Given the description of an element on the screen output the (x, y) to click on. 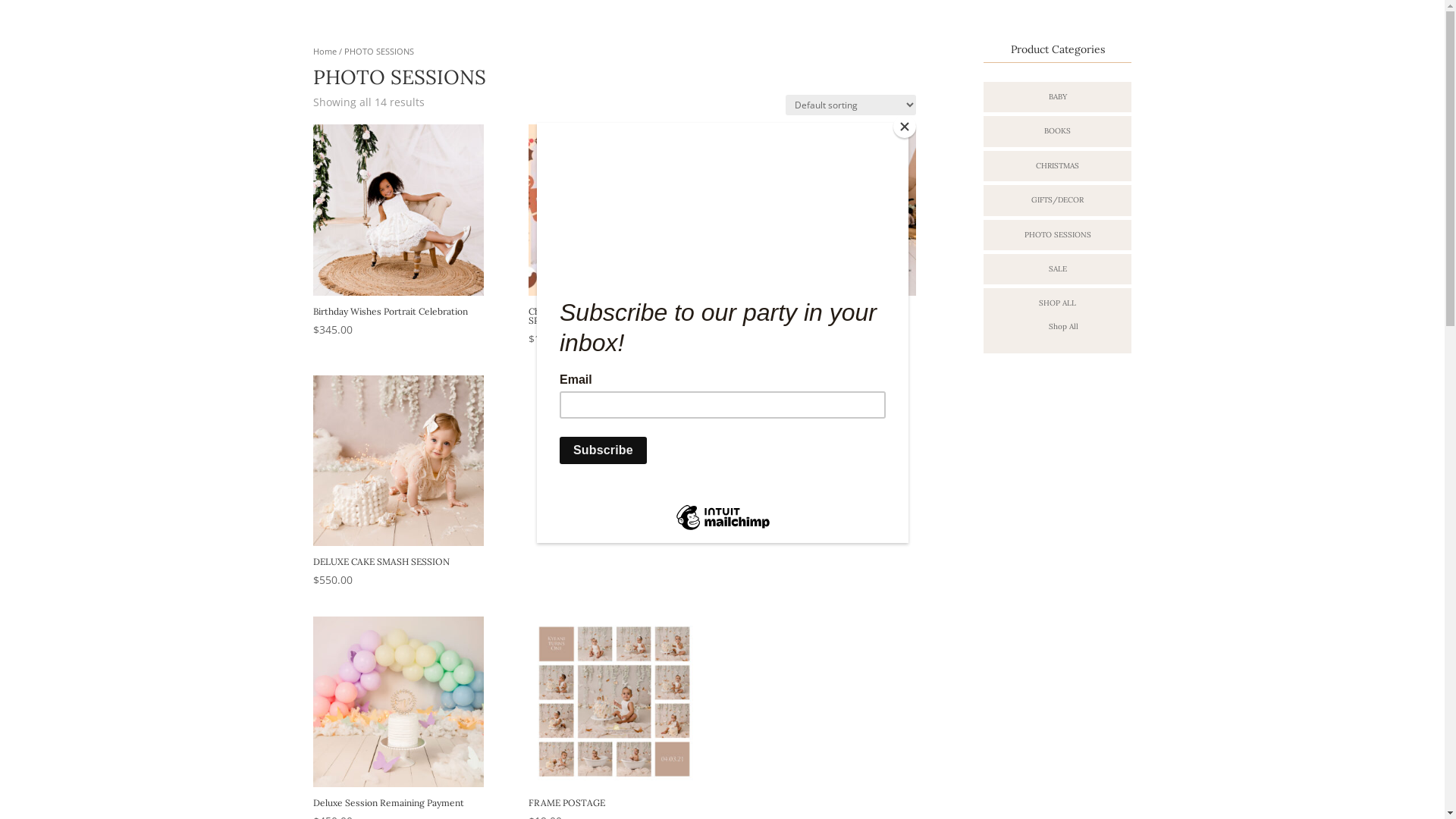
Collection One Cake Smash Remaining payment
$285.00 Element type: text (829, 235)
Shop All Element type: text (1063, 326)
CHRISTMAS Element type: text (1057, 165)
PHOTO SESSIONS Element type: text (1057, 234)
SHOP ALL Element type: text (1057, 302)
DELUXE CAKE SMASH SESSION
$550.00 Element type: text (397, 482)
SALE Element type: text (1057, 268)
Birthday Wishes Portrait Celebration
$345.00 Element type: text (397, 231)
BABY Element type: text (1057, 96)
GIFTS/DECOR Element type: text (1057, 199)
BOOKS Element type: text (1057, 130)
Home Element type: text (323, 50)
